Given the description of an element on the screen output the (x, y) to click on. 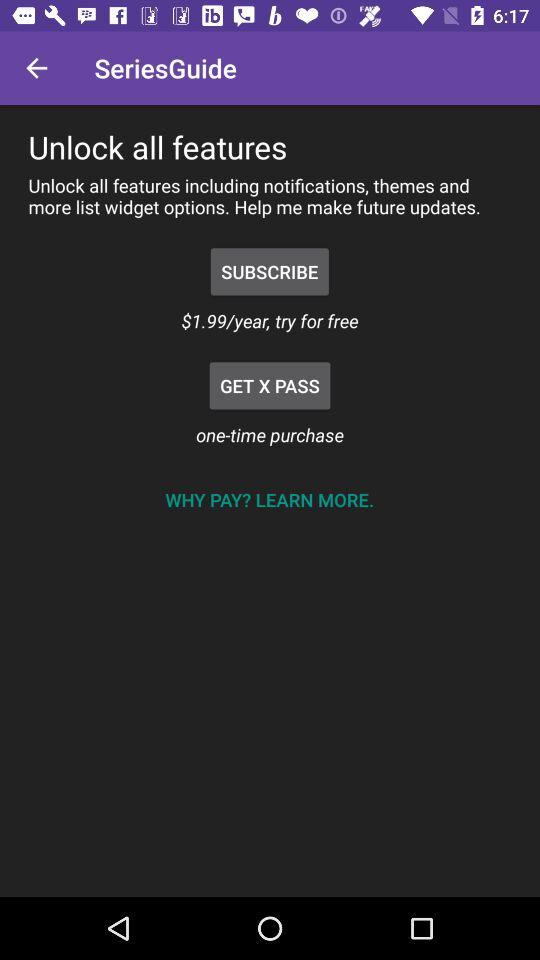
turn off the item above one-time purchase (269, 385)
